Given the description of an element on the screen output the (x, y) to click on. 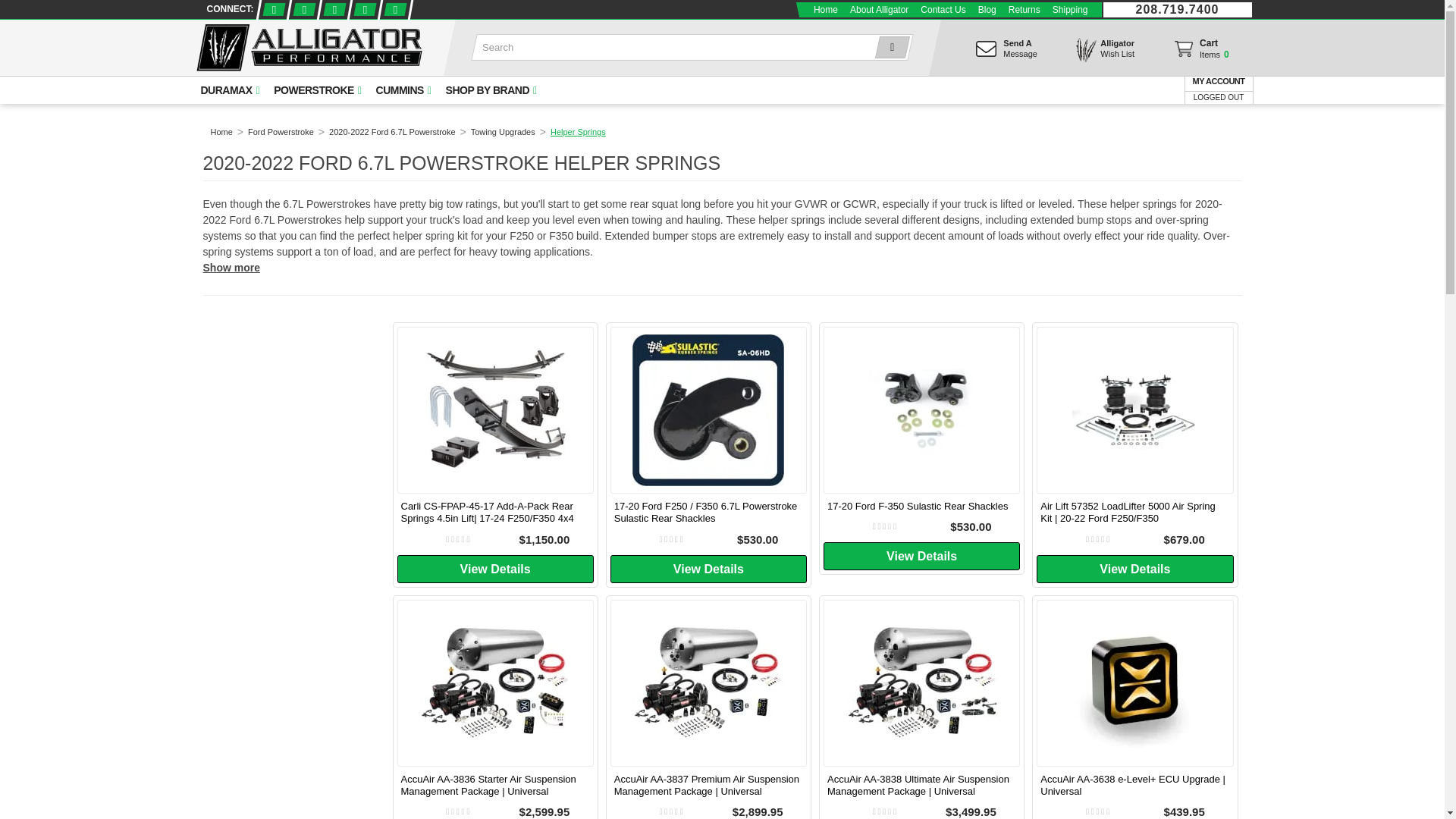
Like Us on Facebook (272, 9)
DURAMAX (227, 90)
208.719.7400 (1177, 9)
Contact Us (942, 9)
Follow Us on Twitter (302, 9)
Home (826, 9)
Follow Us on Instagram (394, 9)
About Alligator (879, 9)
Shipping (1070, 9)
search button (889, 47)
Blog (987, 9)
Follow Us on Pinterest (1200, 52)
Subscribe to our Channel (363, 9)
Returns (333, 9)
